Given the description of an element on the screen output the (x, y) to click on. 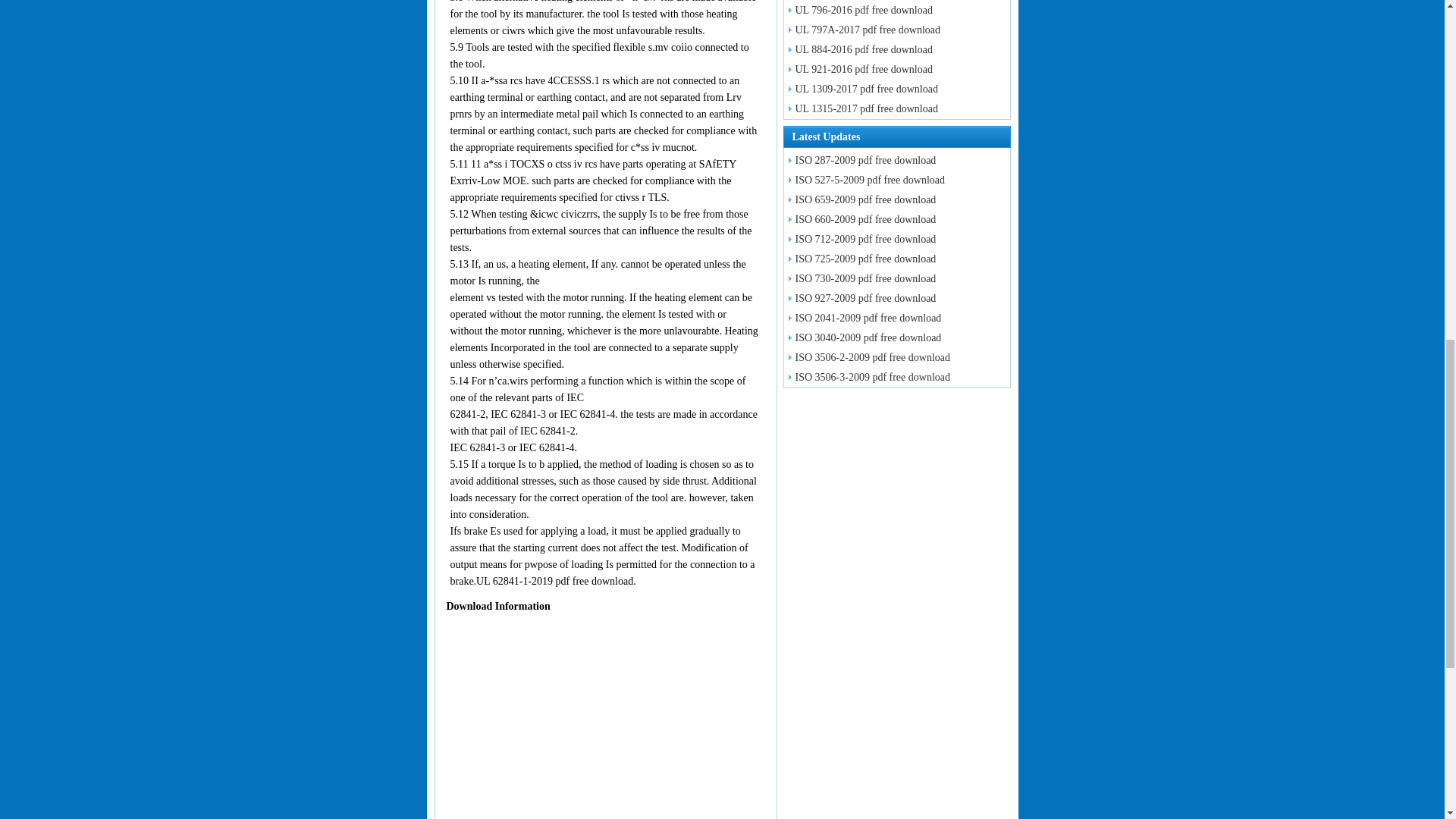
ISO 730-2009 pdf free download (860, 278)
UL 1309-2017 pdf free download (860, 89)
UL 921-2016 pdf free download (858, 69)
ISO 927-2009 pdf free download (860, 297)
UL 797A-2017 pdf free download (862, 30)
ISO 3040-2009 pdf free download (863, 337)
ISO 287-2009 pdf free download (860, 160)
ISO 2041-2009 pdf free download (863, 317)
ISO 3506-3-2009 pdf free download (867, 377)
ISO 659-2009 pdf free download (860, 199)
